Given the description of an element on the screen output the (x, y) to click on. 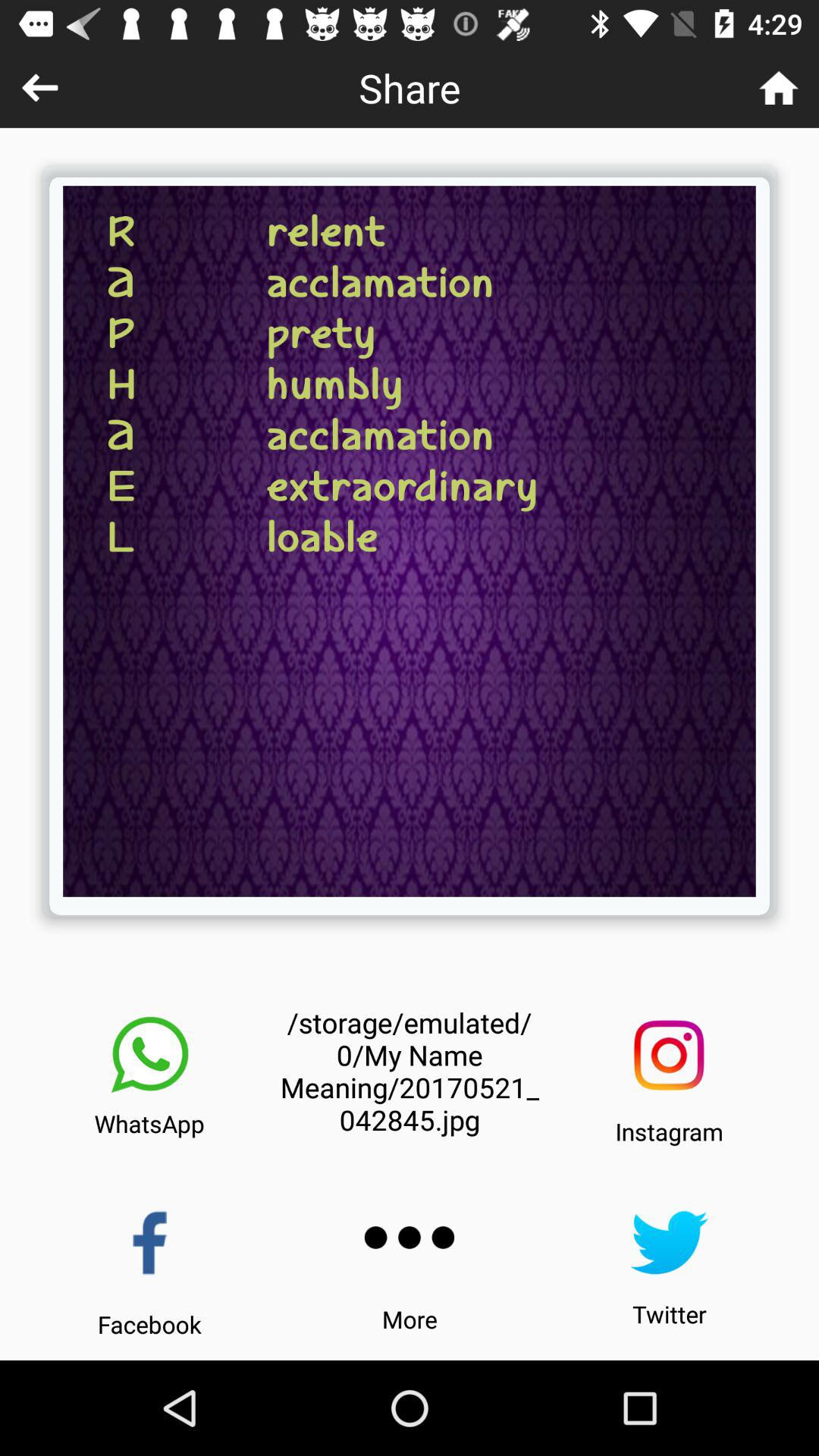
turn on the item next to share (39, 87)
